Given the description of an element on the screen output the (x, y) to click on. 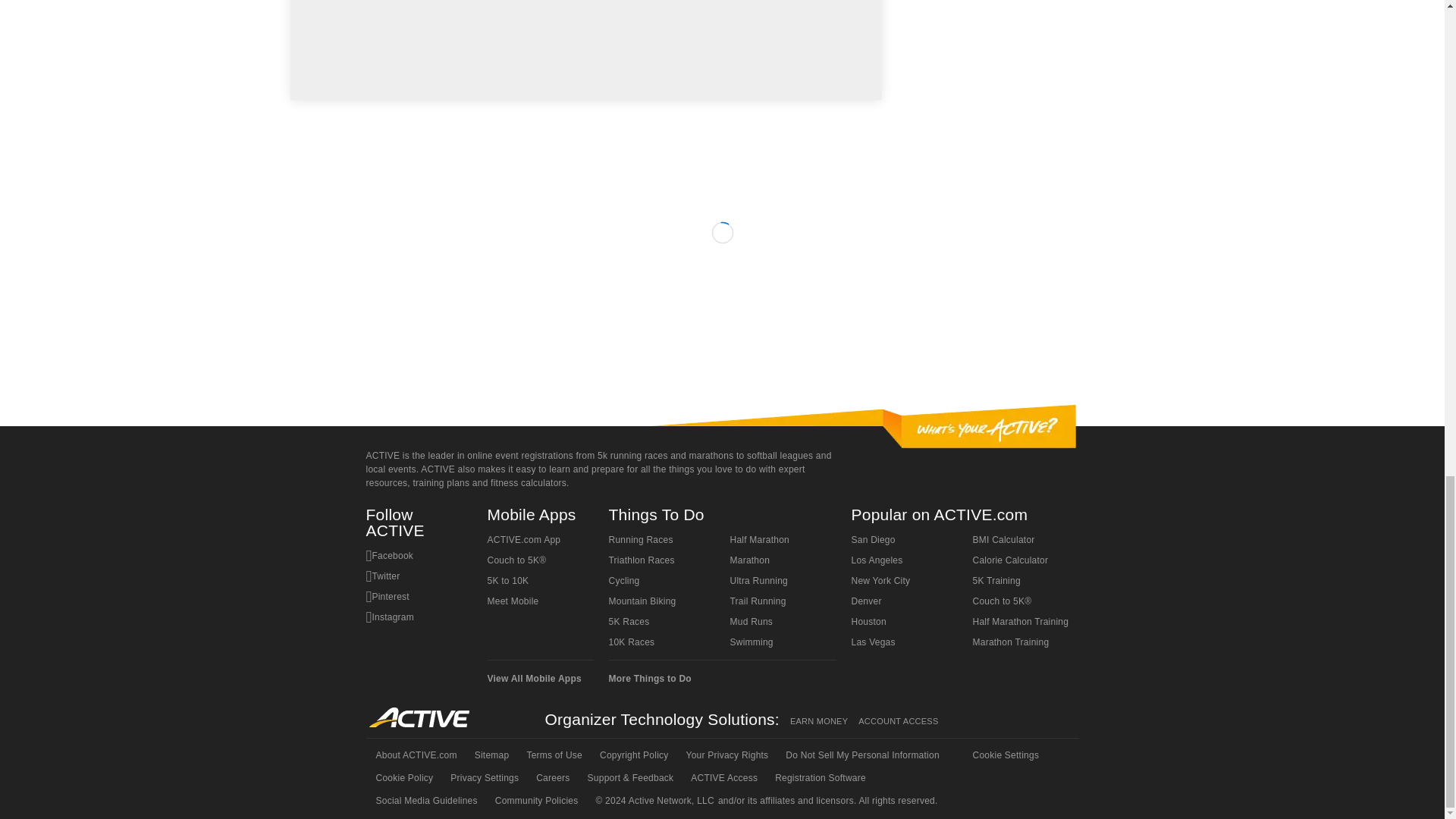
Do Not Sell My Personal Information (861, 754)
Terms of Use (552, 754)
Cookie Policy (403, 777)
Copyright Policy (633, 754)
Careers at Active (550, 777)
Privacy Settings (483, 777)
Your Privacy Rights: Updated (726, 754)
